Given the description of an element on the screen output the (x, y) to click on. 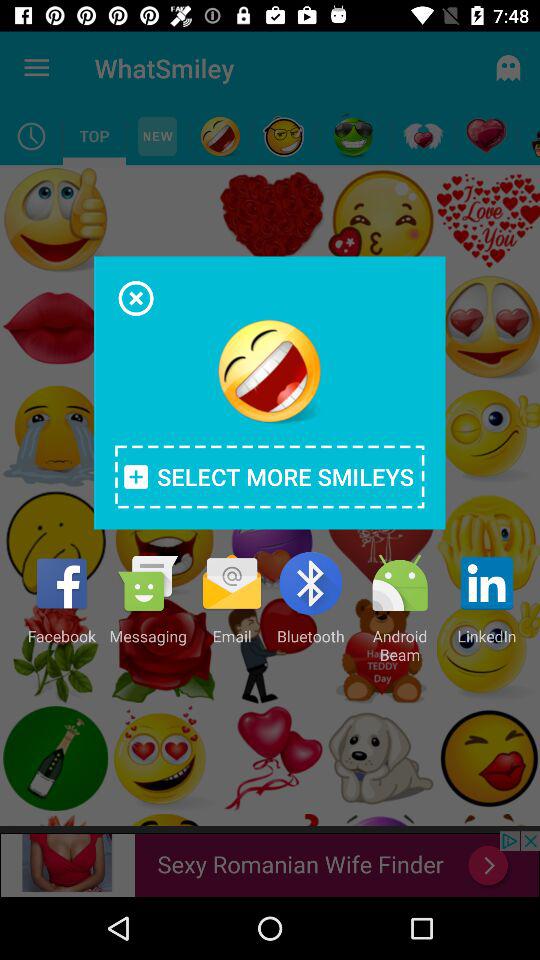
close pop up (136, 298)
